Given the description of an element on the screen output the (x, y) to click on. 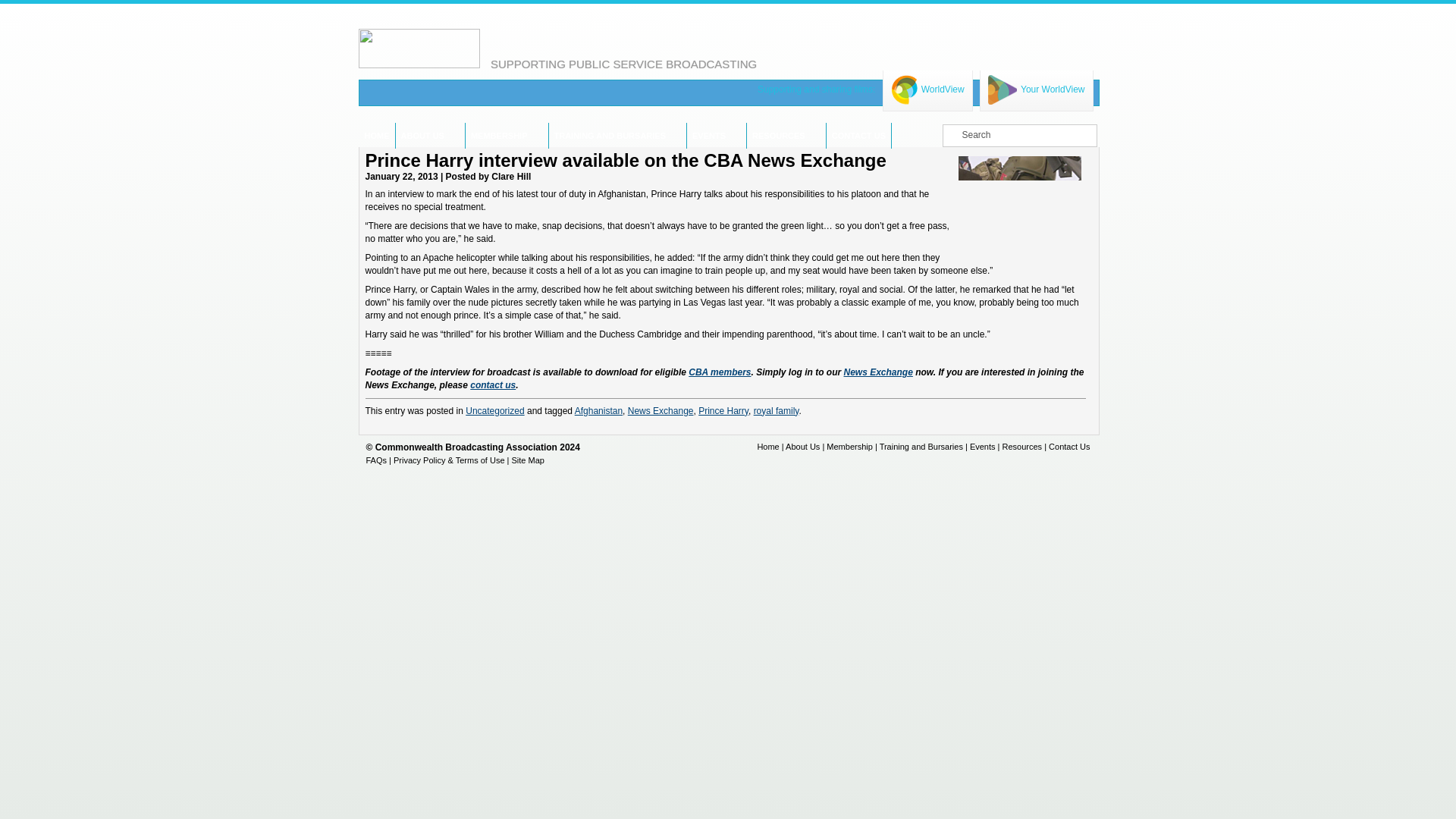
EVENTS (709, 135)
Your WorldView (1036, 89)
HOME (376, 135)
TRAINING AND BURSARIES (610, 135)
News Exchange (877, 371)
MEMBERSHIP (498, 135)
WorldView (927, 89)
Search (21, 7)
ABOUT US (422, 135)
RESOURCES (778, 135)
